Given the description of an element on the screen output the (x, y) to click on. 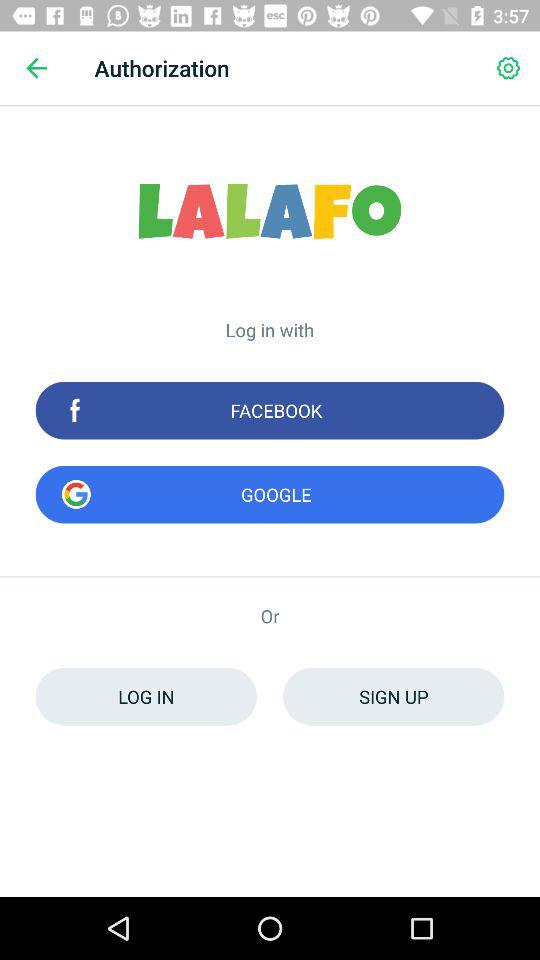
launch the icon next to log in icon (393, 696)
